Given the description of an element on the screen output the (x, y) to click on. 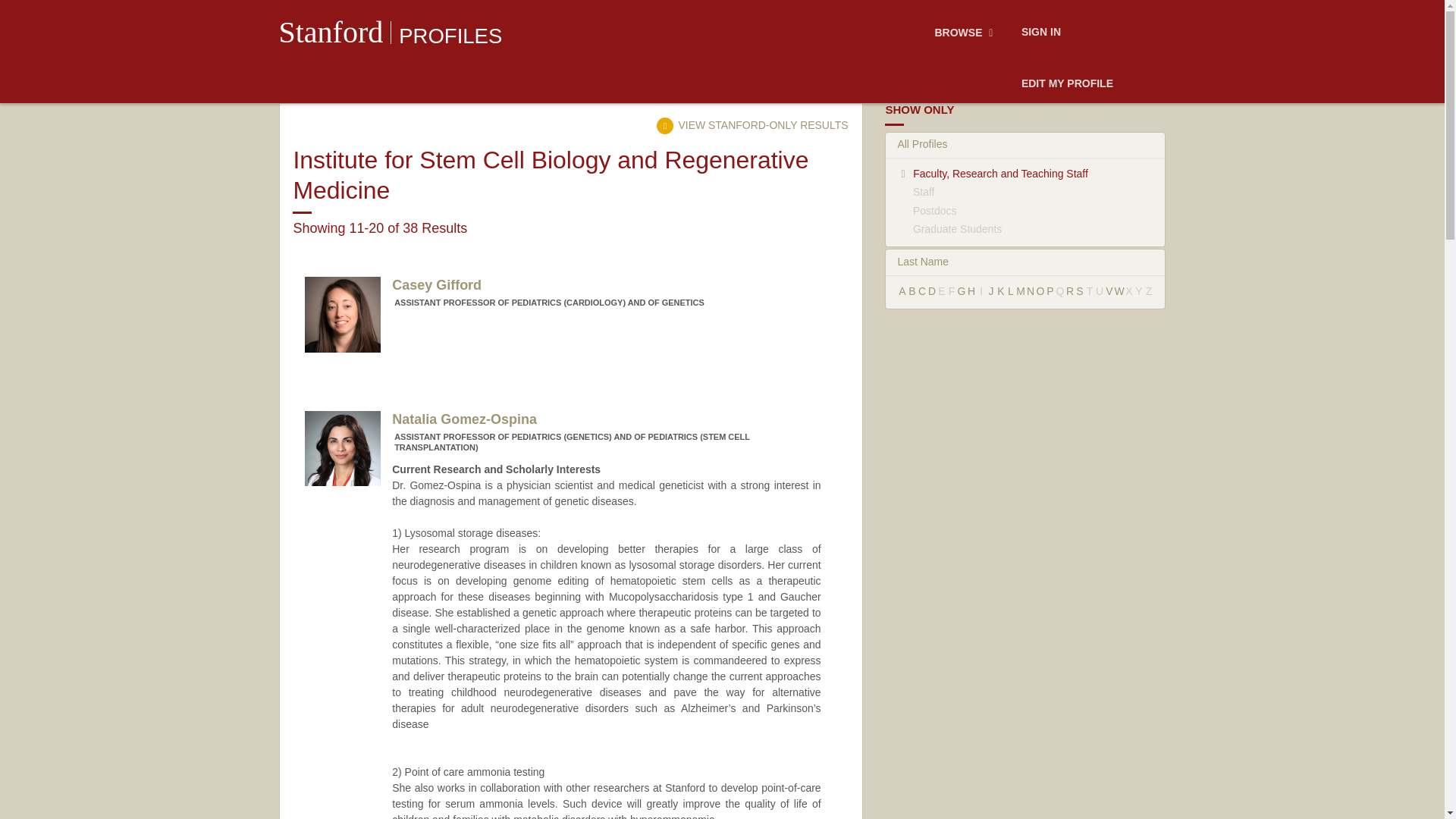
SIGN IN (1040, 32)
Stanford (331, 32)
PROFILES (450, 35)
VIEW STANFORD-ONLY RESULTS (751, 124)
BROWSE (966, 32)
EDIT MY PROFILE (1067, 84)
